Given the description of an element on the screen output the (x, y) to click on. 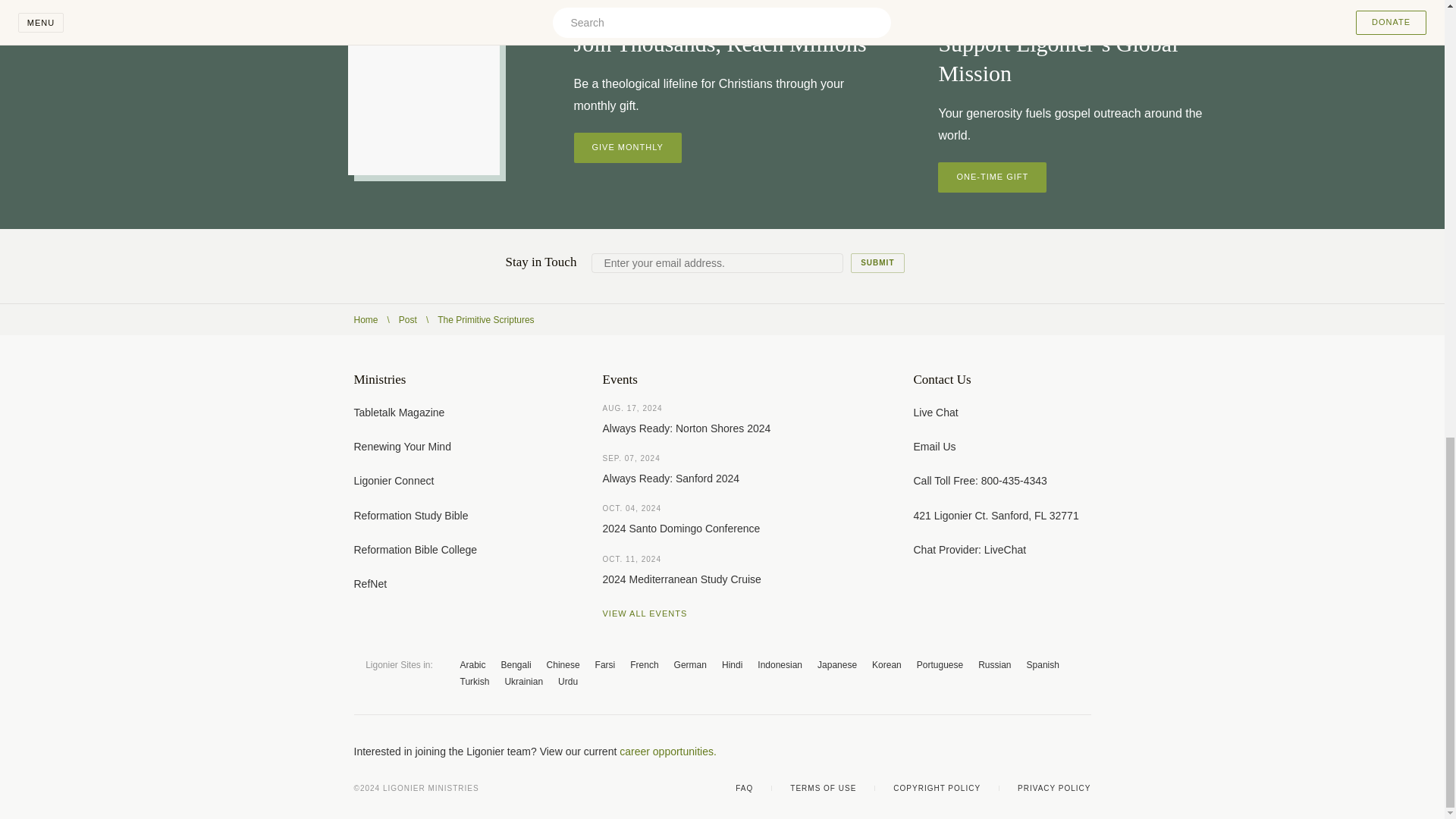
YouTube (1023, 751)
X (993, 751)
Instagram (1053, 751)
Linkedin (1083, 751)
Facebook (962, 751)
